Given the description of an element on the screen output the (x, y) to click on. 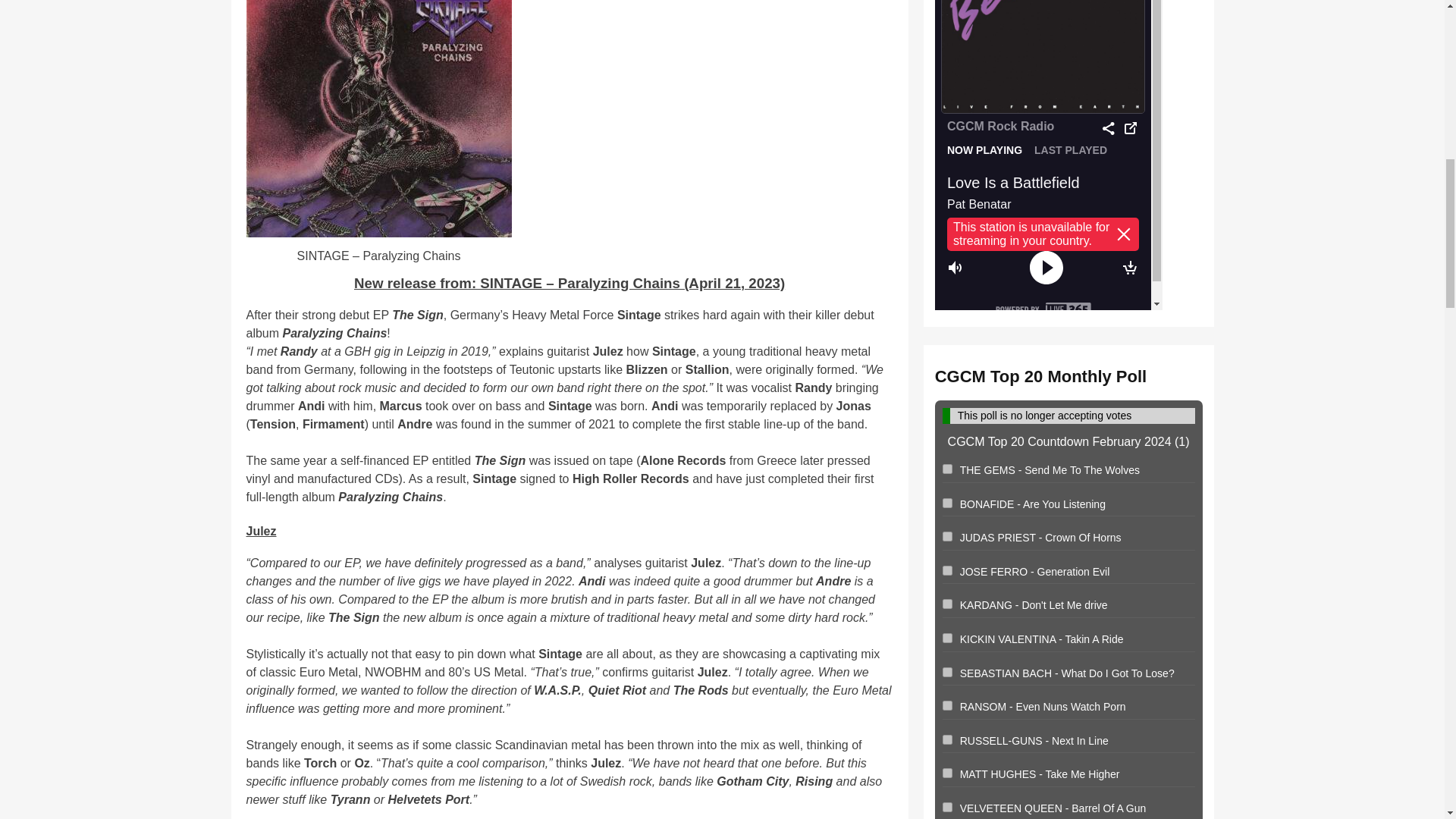
667 (947, 637)
684 (947, 570)
683 (947, 536)
656 (947, 469)
685 (947, 502)
661 (947, 773)
669 (947, 705)
658 (947, 603)
668 (947, 672)
676 (947, 739)
